Given the description of an element on the screen output the (x, y) to click on. 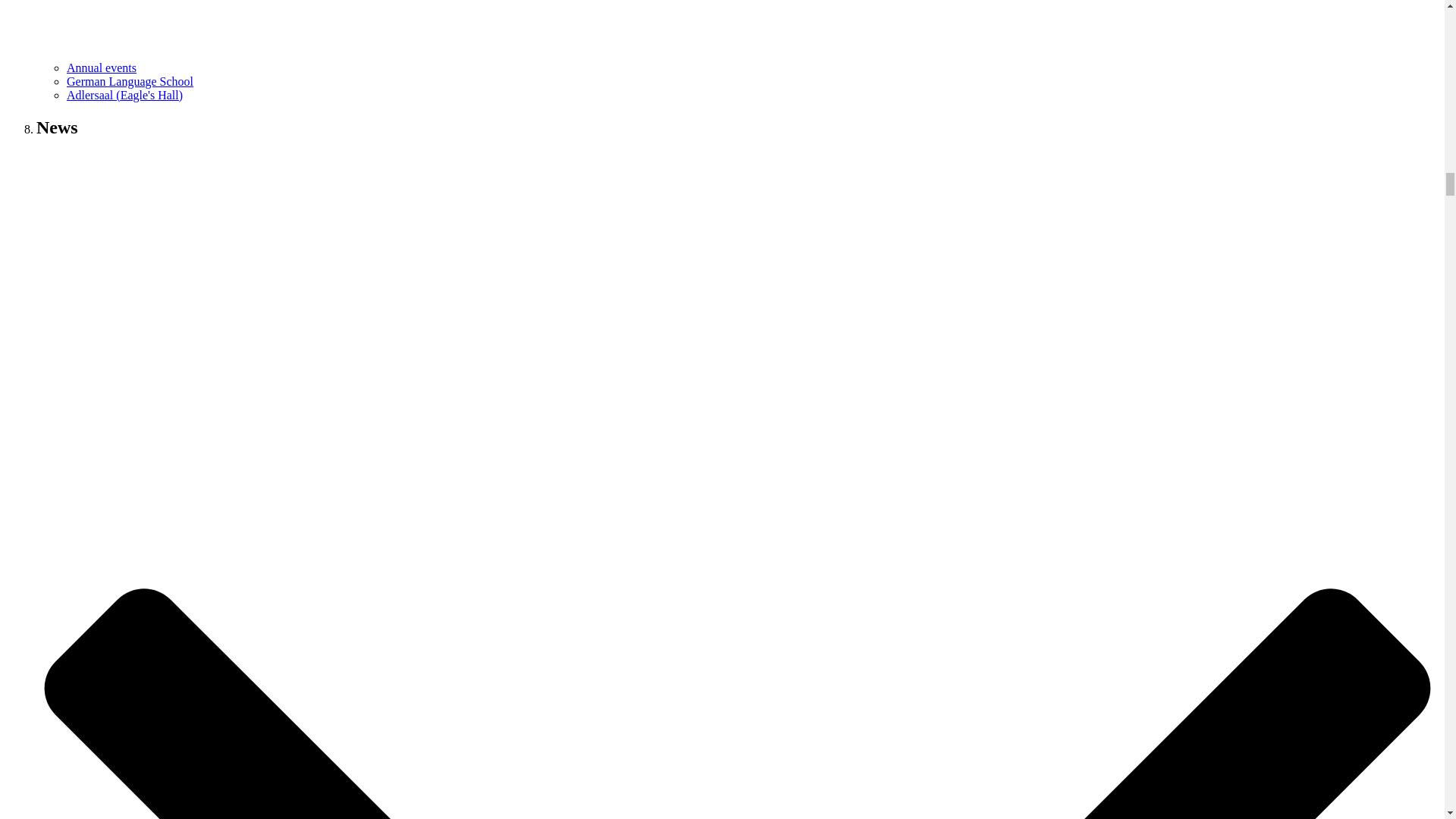
German Language School (129, 81)
Annual events (101, 67)
